Given the description of an element on the screen output the (x, y) to click on. 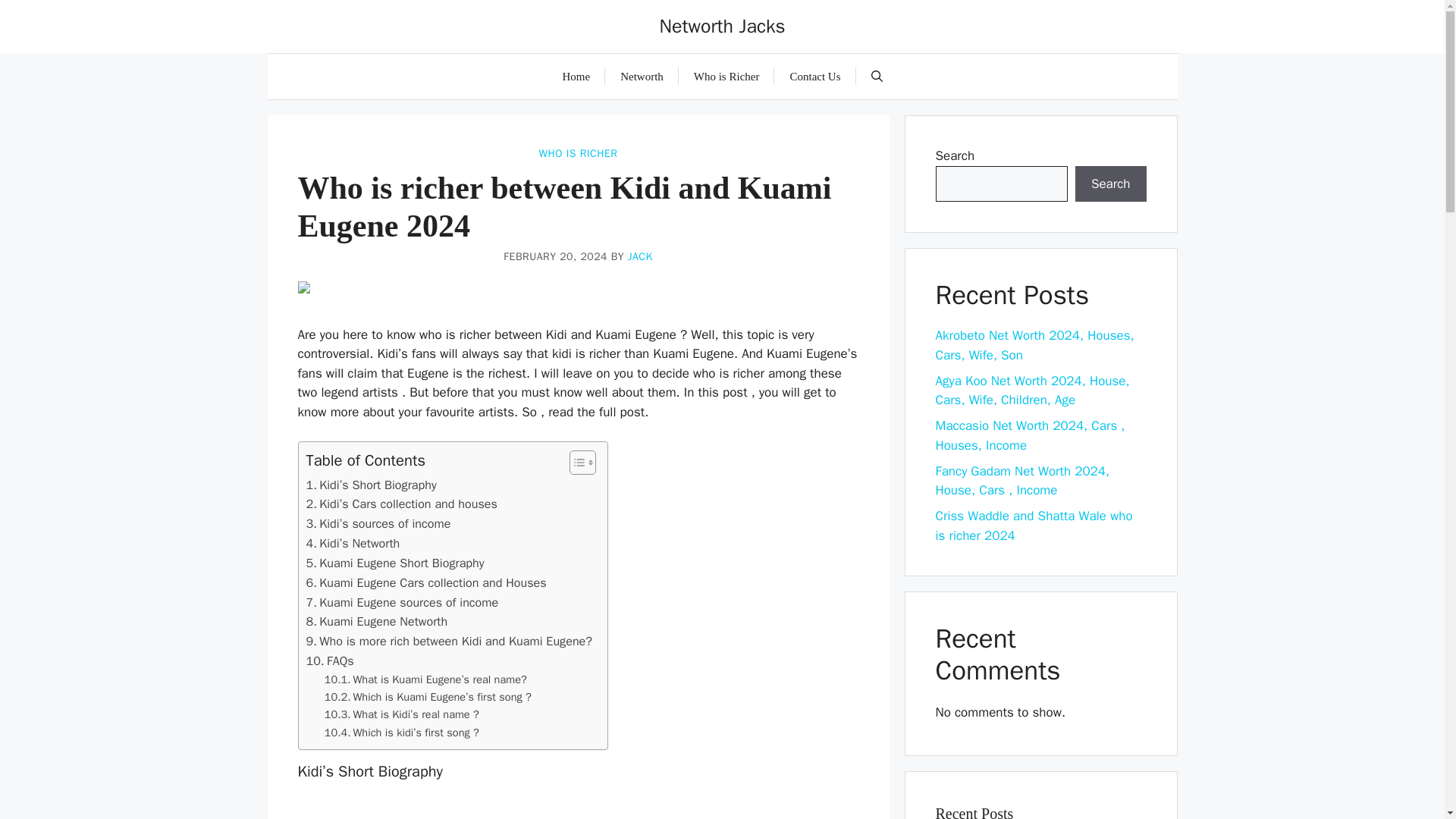
Contact Us (815, 76)
FAQs  (329, 660)
Kuami Eugene Short Biography (394, 563)
Fancy Gadam Net Worth 2024, House, Cars , Income (1022, 479)
Kuami Eugene Short Biography  (394, 563)
Kuami Eugene Cars collection and Houses (426, 582)
WHO IS RICHER (577, 153)
Agya Koo Net Worth 2024, House, Cars, Wife, Children, Age (1032, 390)
View all posts by Jack (639, 256)
